Given the description of an element on the screen output the (x, y) to click on. 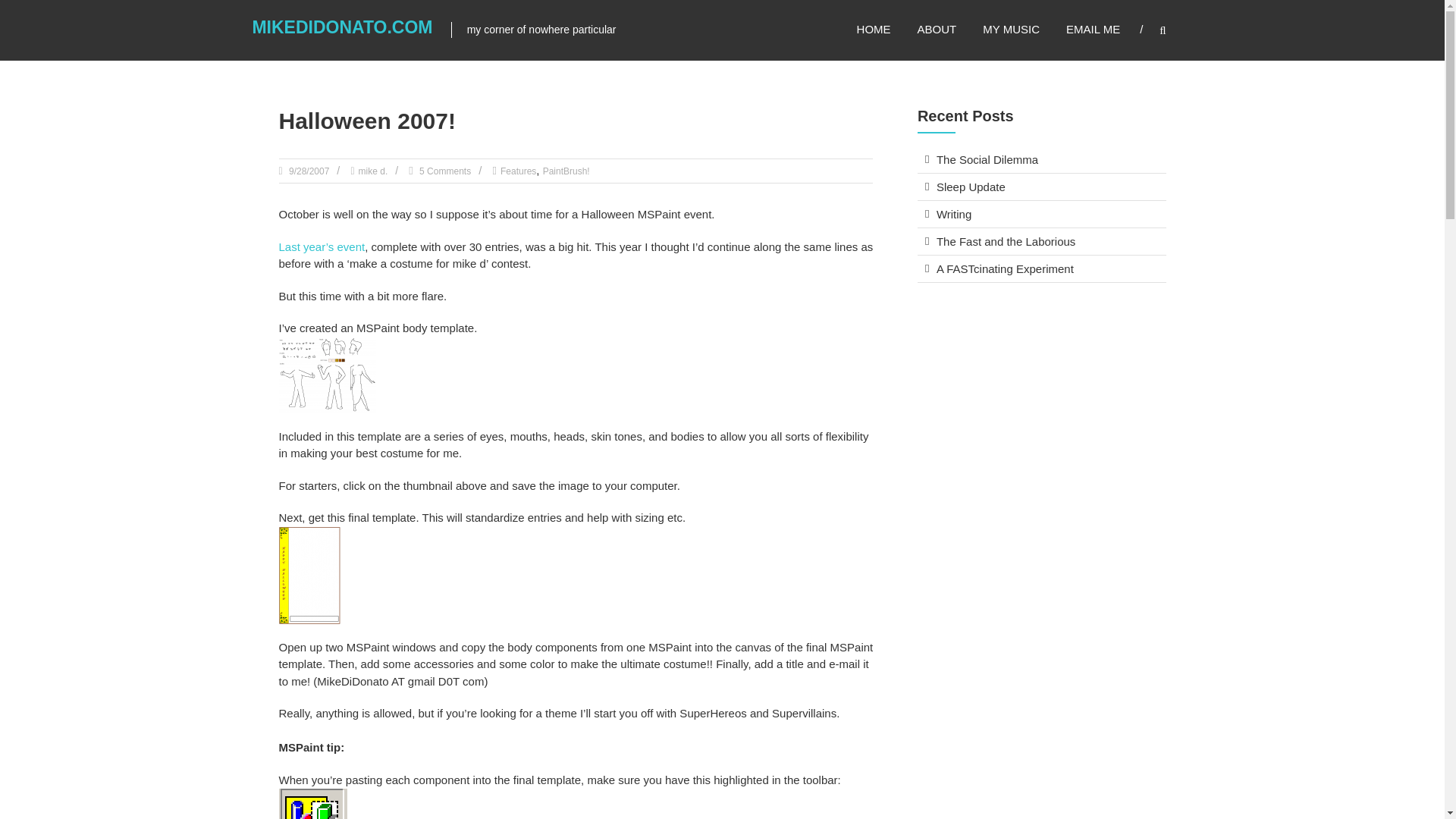
PaintBrush! (566, 171)
Features (517, 171)
halloween2.PNG (327, 373)
MikeDiDonato.com (341, 26)
12:26 pm (308, 171)
mike d. (373, 171)
MY MUSIC (1010, 29)
5 Comments (443, 171)
The Fast and the Laborious (1005, 241)
EMAIL ME (1092, 29)
